Given the description of an element on the screen output the (x, y) to click on. 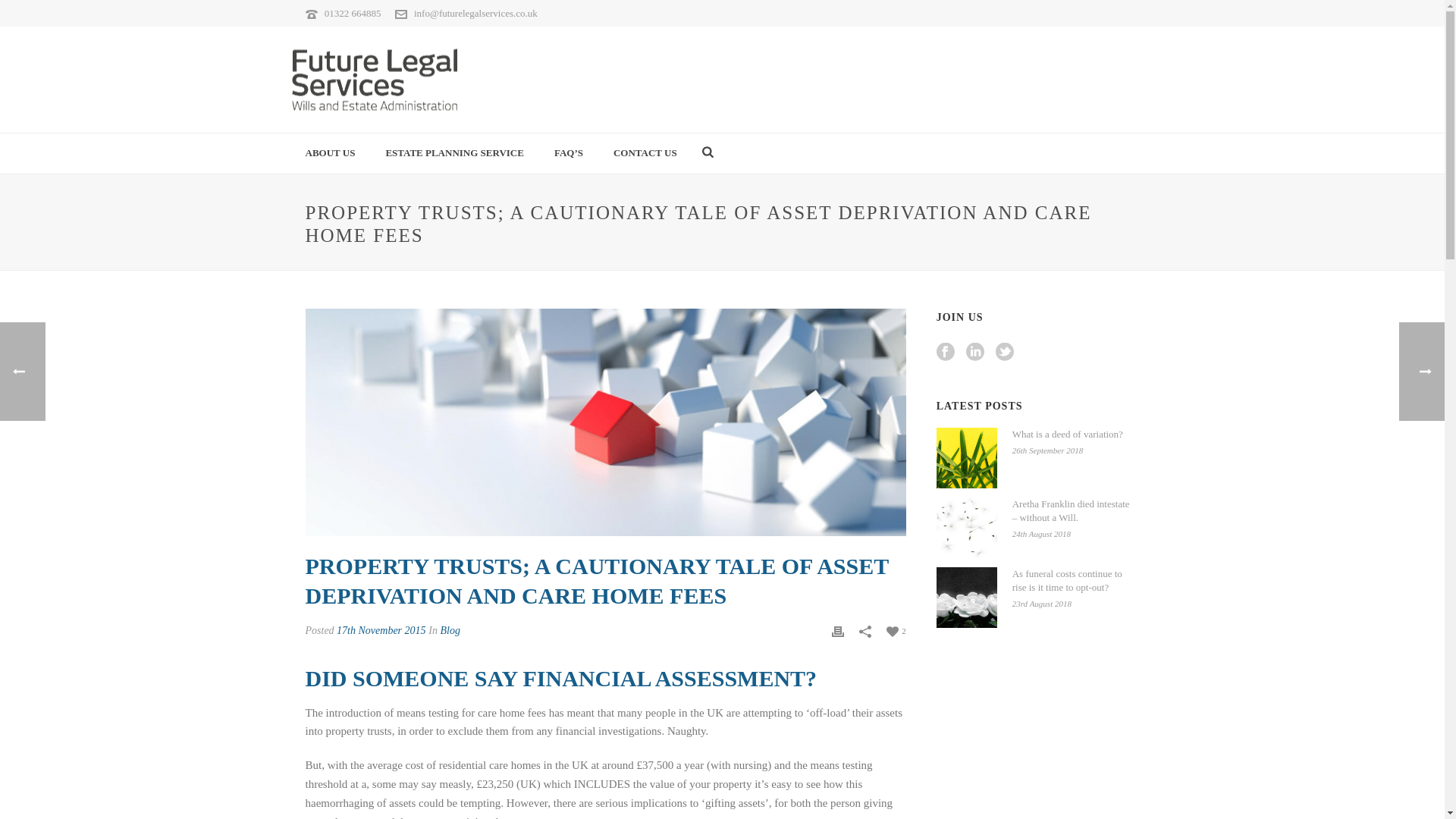
ESTATE PLANNING SERVICE (453, 153)
Will Writing and Estate Administration (373, 78)
Blog (449, 630)
What is a deed of variation? (966, 457)
CONTACT US (645, 153)
CONTACT US (645, 153)
Future Legal Services (373, 79)
17th November 2015 (380, 630)
